Given the description of an element on the screen output the (x, y) to click on. 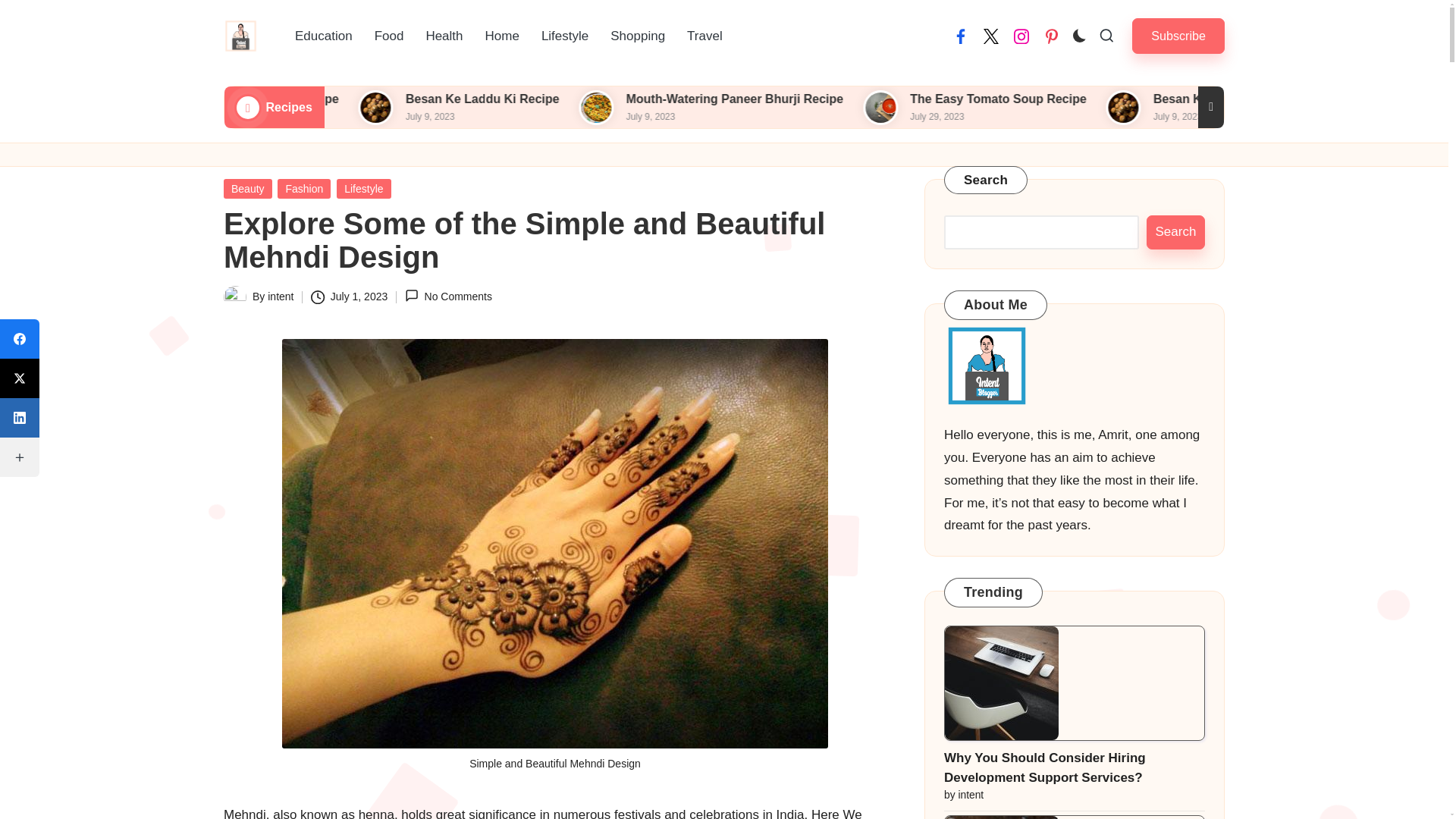
Shopping (637, 36)
Facebook (960, 36)
Instagram (1020, 36)
Travel (705, 36)
The Easy Tomato Soup Recipe (1162, 98)
Education (322, 36)
Mouth-Watering Paneer Bhurji Recipe (901, 98)
Food (389, 36)
Pinterest (1051, 36)
Fashion (304, 189)
